Given the description of an element on the screen output the (x, y) to click on. 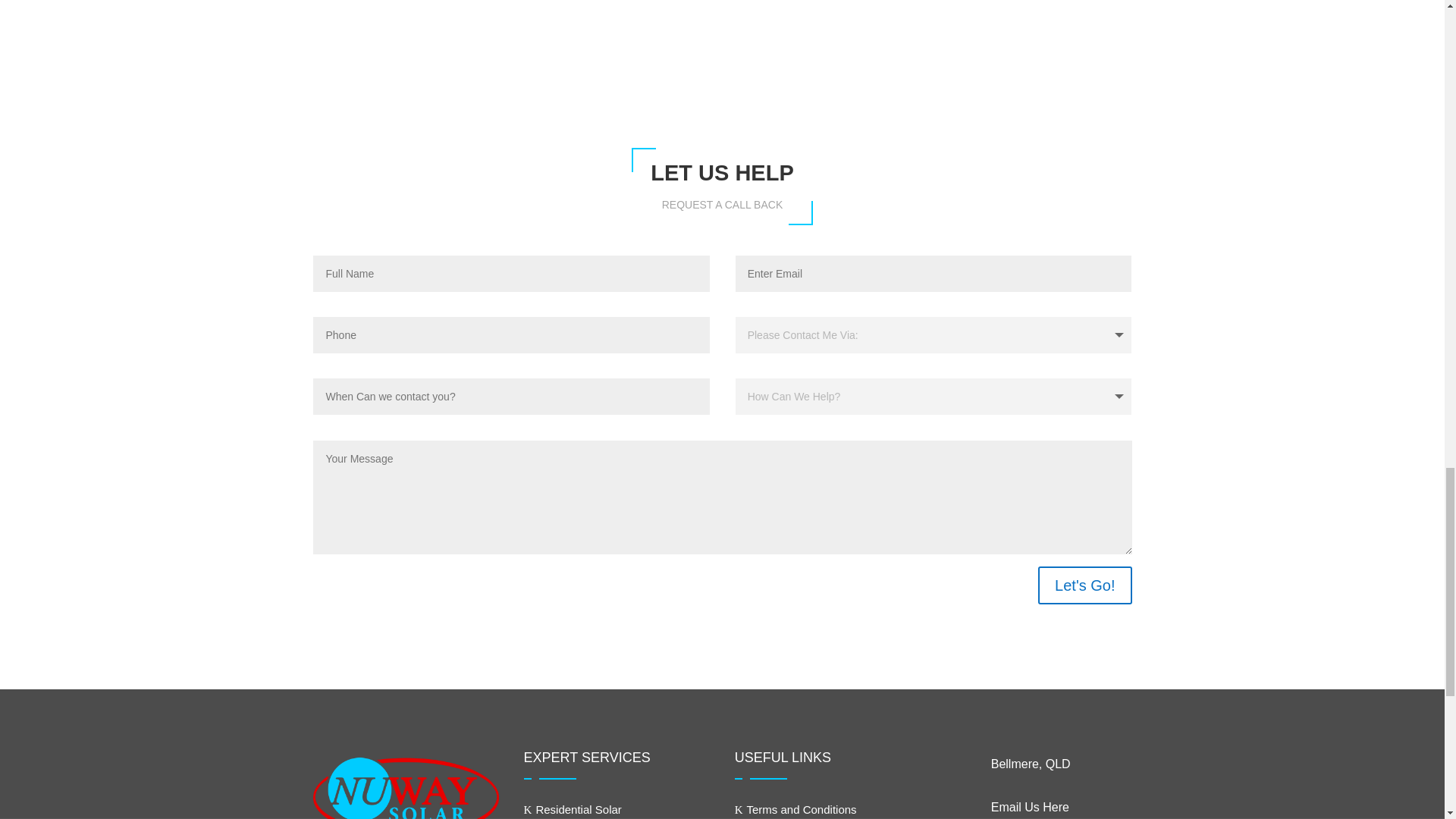
Let's Go! (1084, 585)
Email Us Here (1029, 807)
Terms and Conditions (796, 809)
Minimum length: 2 characters. Maximum length: 61 characters. (511, 396)
NuWaySolar.com.au 2 (981, 58)
Residential Solar (572, 809)
NuWay Logo WEB (406, 785)
Only numbers allowed. (511, 334)
